Given the description of an element on the screen output the (x, y) to click on. 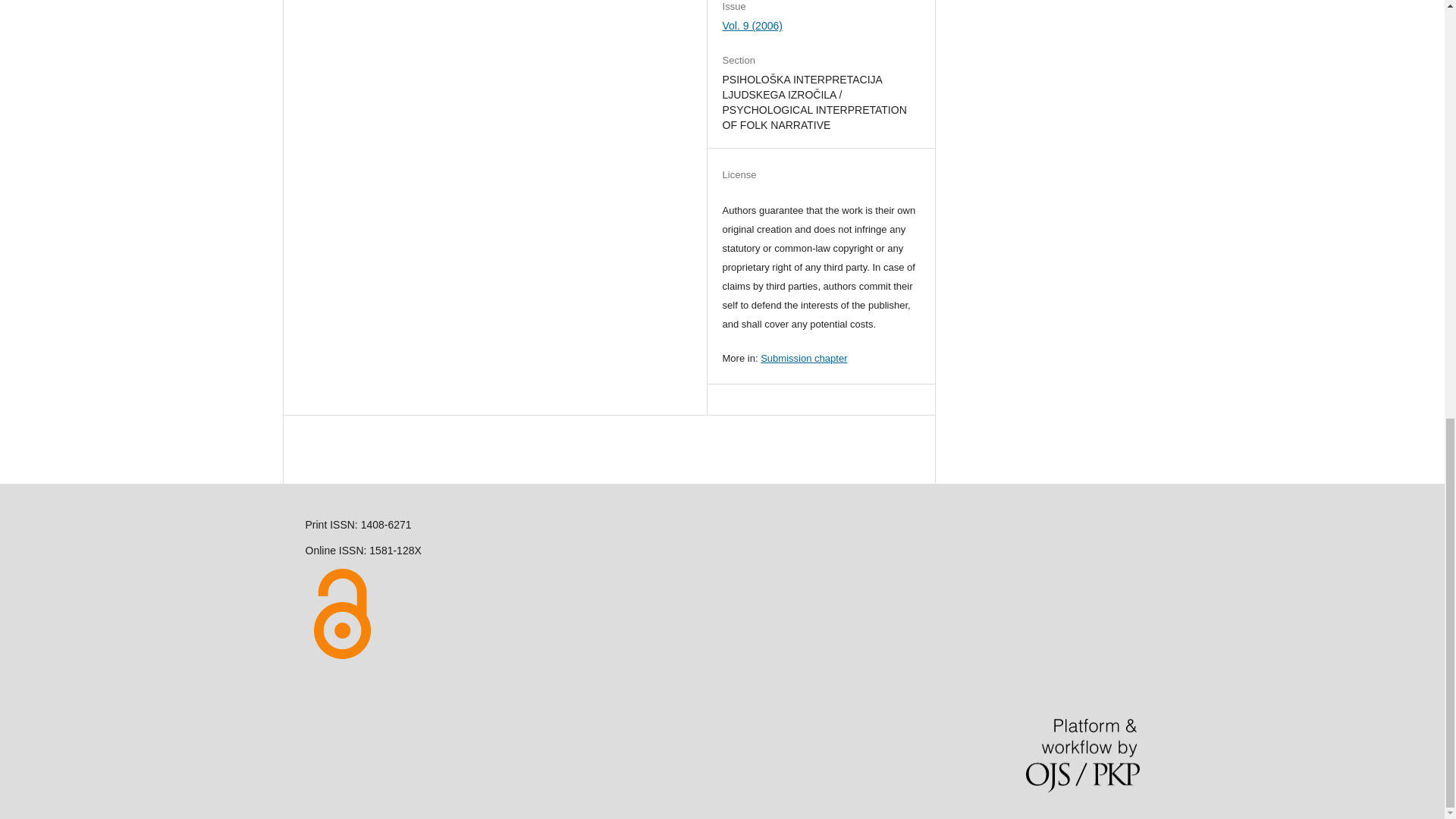
Submission chapter (803, 357)
